Given the description of an element on the screen output the (x, y) to click on. 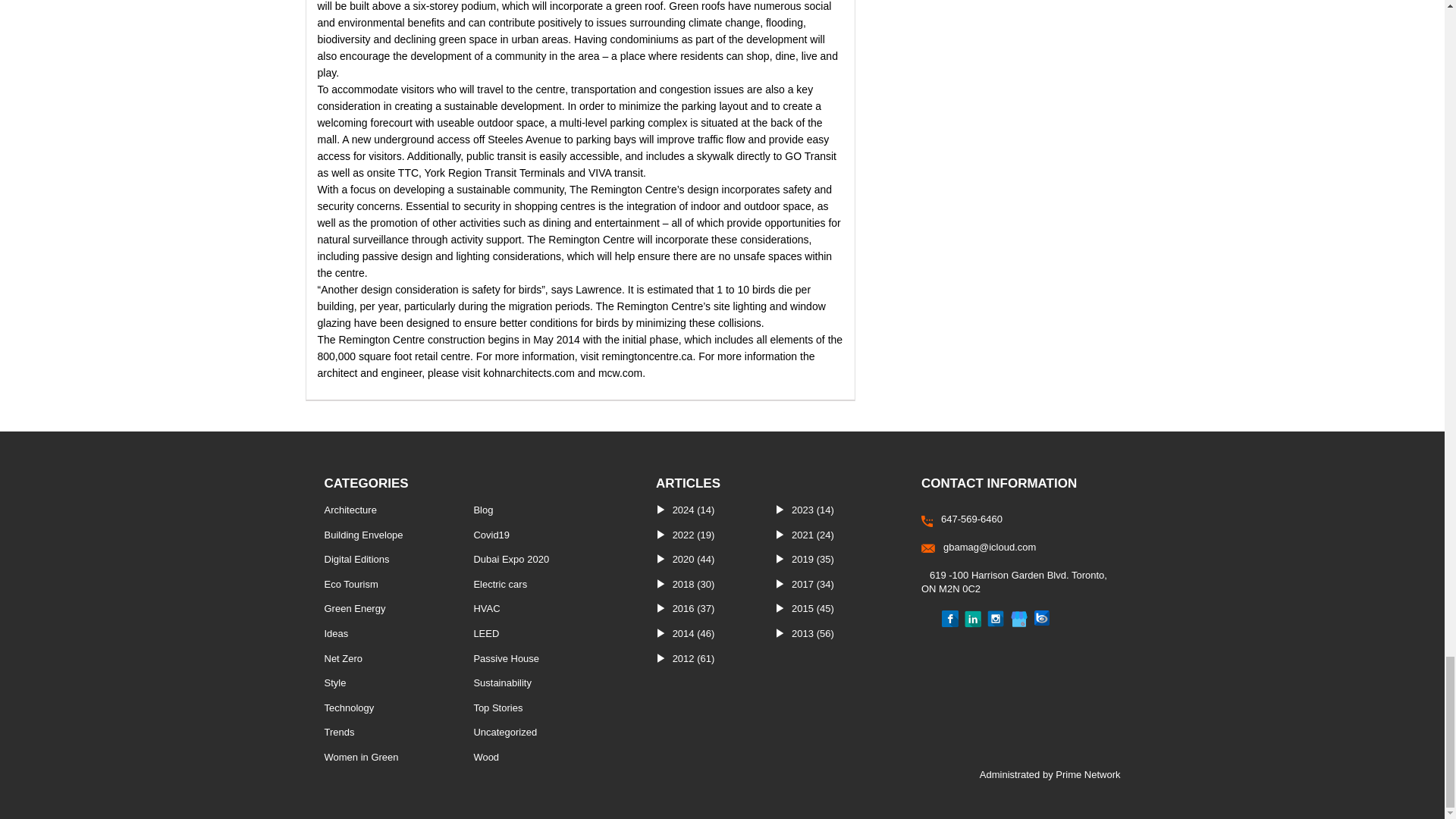
Blog (483, 509)
Building Envelope (363, 534)
Architecture (350, 509)
Covid19 (491, 534)
Digital Editions (357, 559)
